Given the description of an element on the screen output the (x, y) to click on. 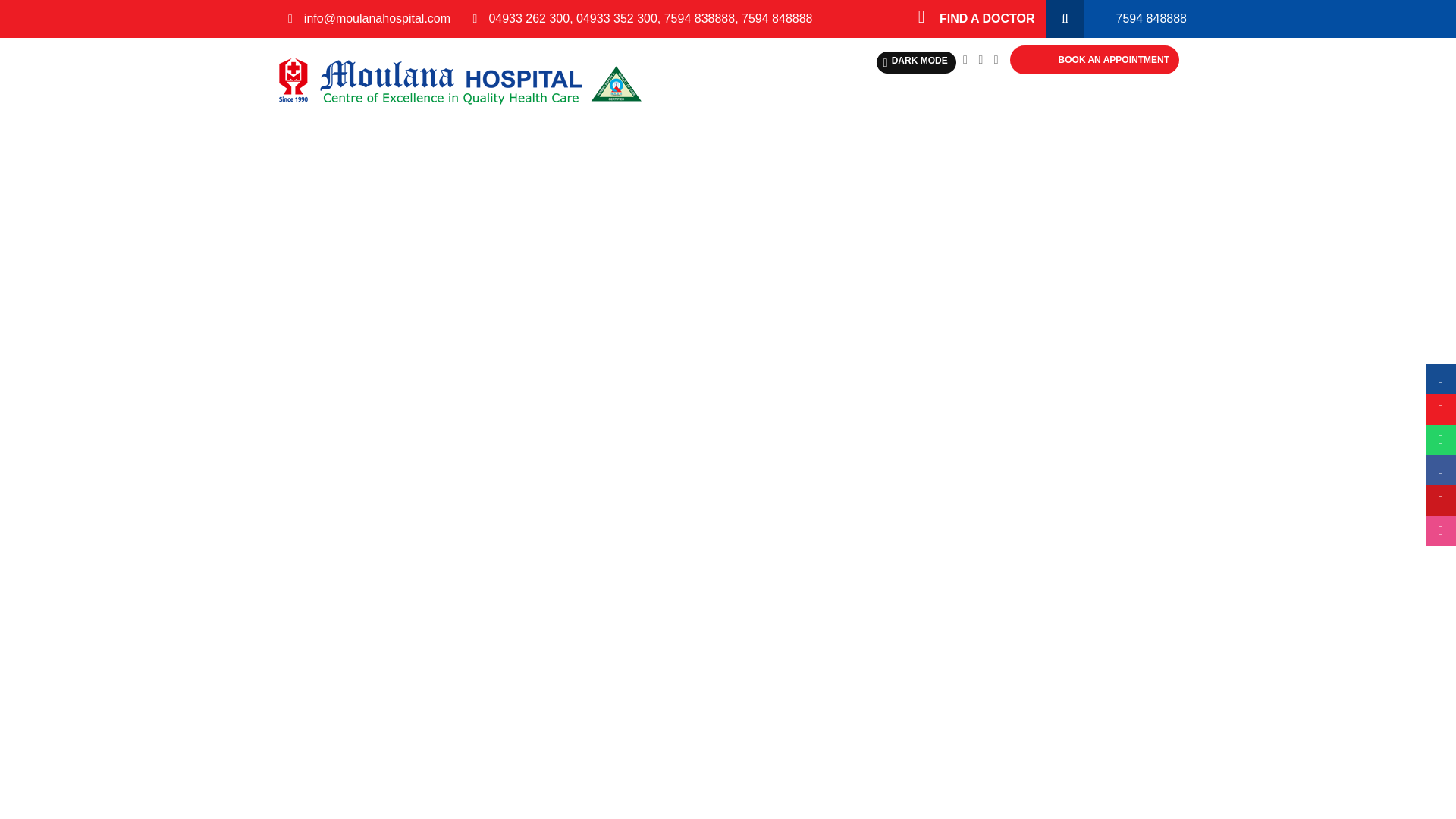
Search (1071, 18)
BOOK AN APPOINTMENT (1113, 59)
04933 352 300 (617, 18)
7594 848888 (1135, 18)
7594 848888 (776, 18)
04933 262 300 (528, 18)
FIND A DOCTOR (976, 18)
DARK MODE (916, 62)
7594 838888 (699, 18)
